Given the description of an element on the screen output the (x, y) to click on. 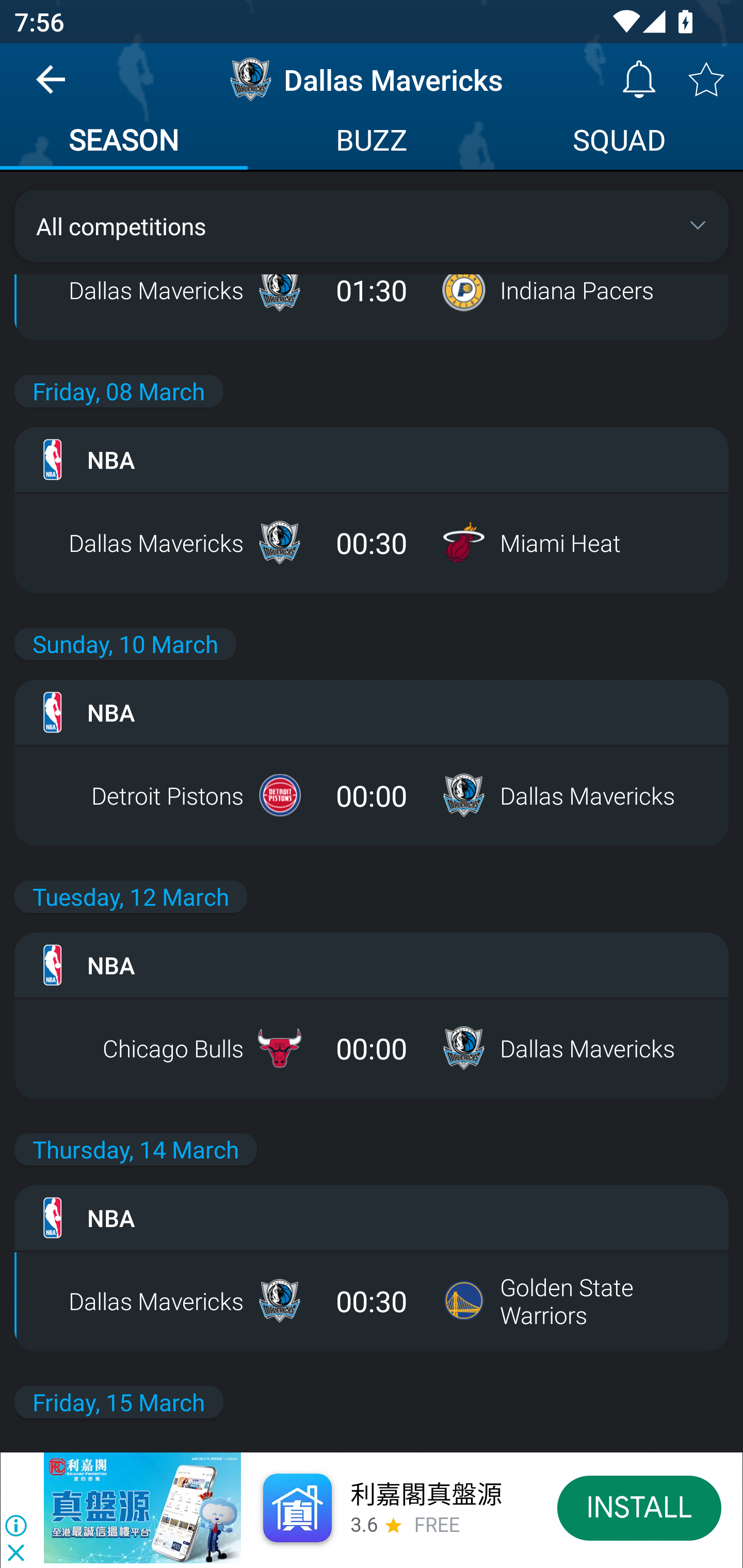
Navigate up (50, 86)
SEASON (123, 142)
BUZZ (371, 142)
SQUAD (619, 142)
All competitions (371, 225)
Dallas Mavericks 01:30 Indiana Pacers (371, 289)
NBA (371, 459)
Dallas Mavericks 00:30 Miami Heat (371, 542)
NBA (371, 712)
Detroit Pistons 00:00 Dallas Mavericks (371, 794)
NBA (371, 964)
Chicago Bulls 00:00 Dallas Mavericks (371, 1048)
NBA (371, 1217)
Dallas Mavericks 00:30 Golden State Warriors (371, 1300)
INSTALL (639, 1507)
利嘉閣真盤源 (425, 1494)
